Given the description of an element on the screen output the (x, y) to click on. 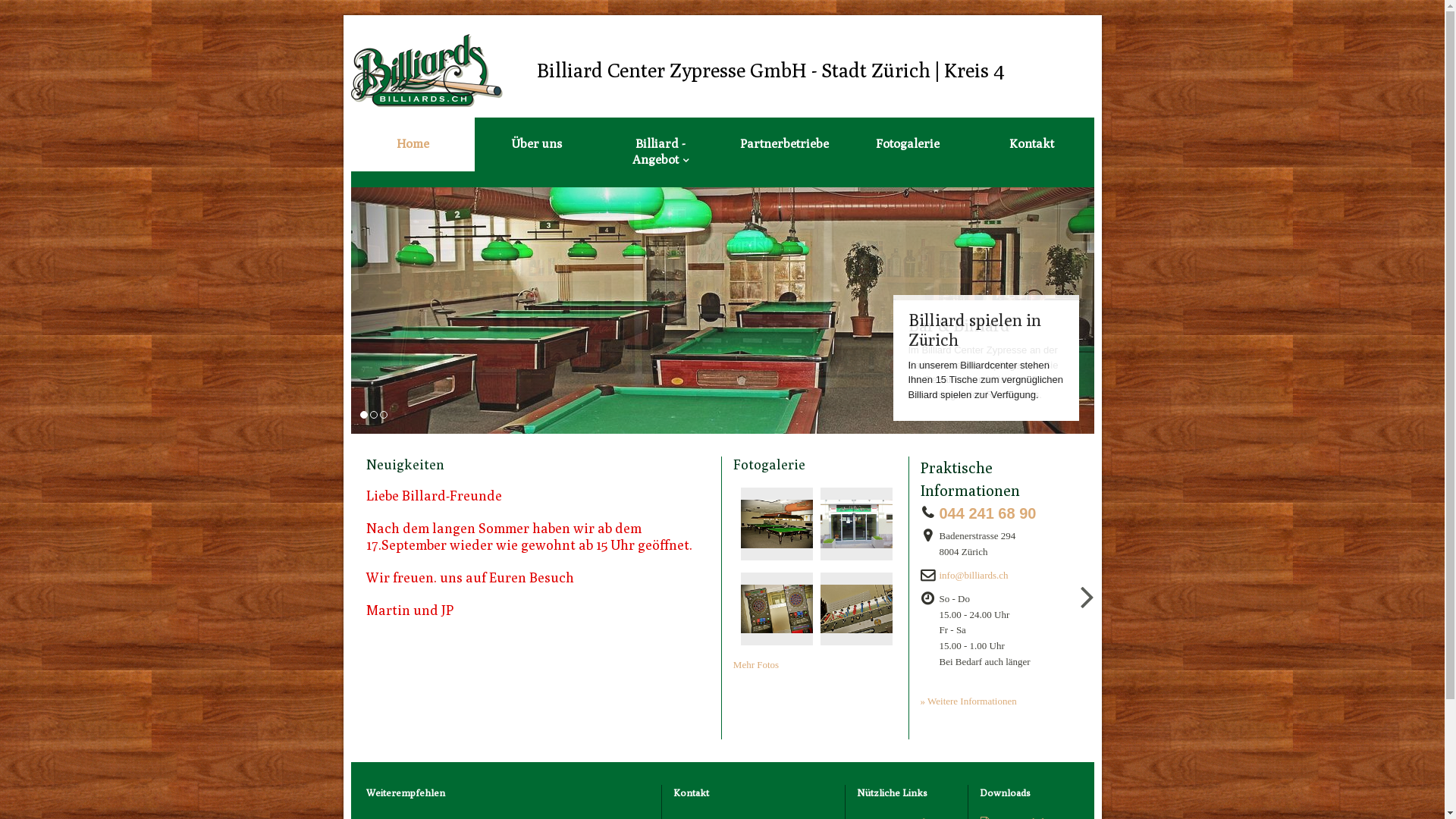
Home Element type: text (411, 144)
Mehr Fotos Element type: text (755, 664)
Billiard - Angebot Element type: text (659, 152)
044 241 68 90 Element type: text (991, 513)
Kontakt Element type: text (1031, 144)
info@billiards.ch Element type: text (977, 575)
Fotogalerie Element type: text (907, 144)
Partnerbetriebe Element type: text (783, 144)
